Given the description of an element on the screen output the (x, y) to click on. 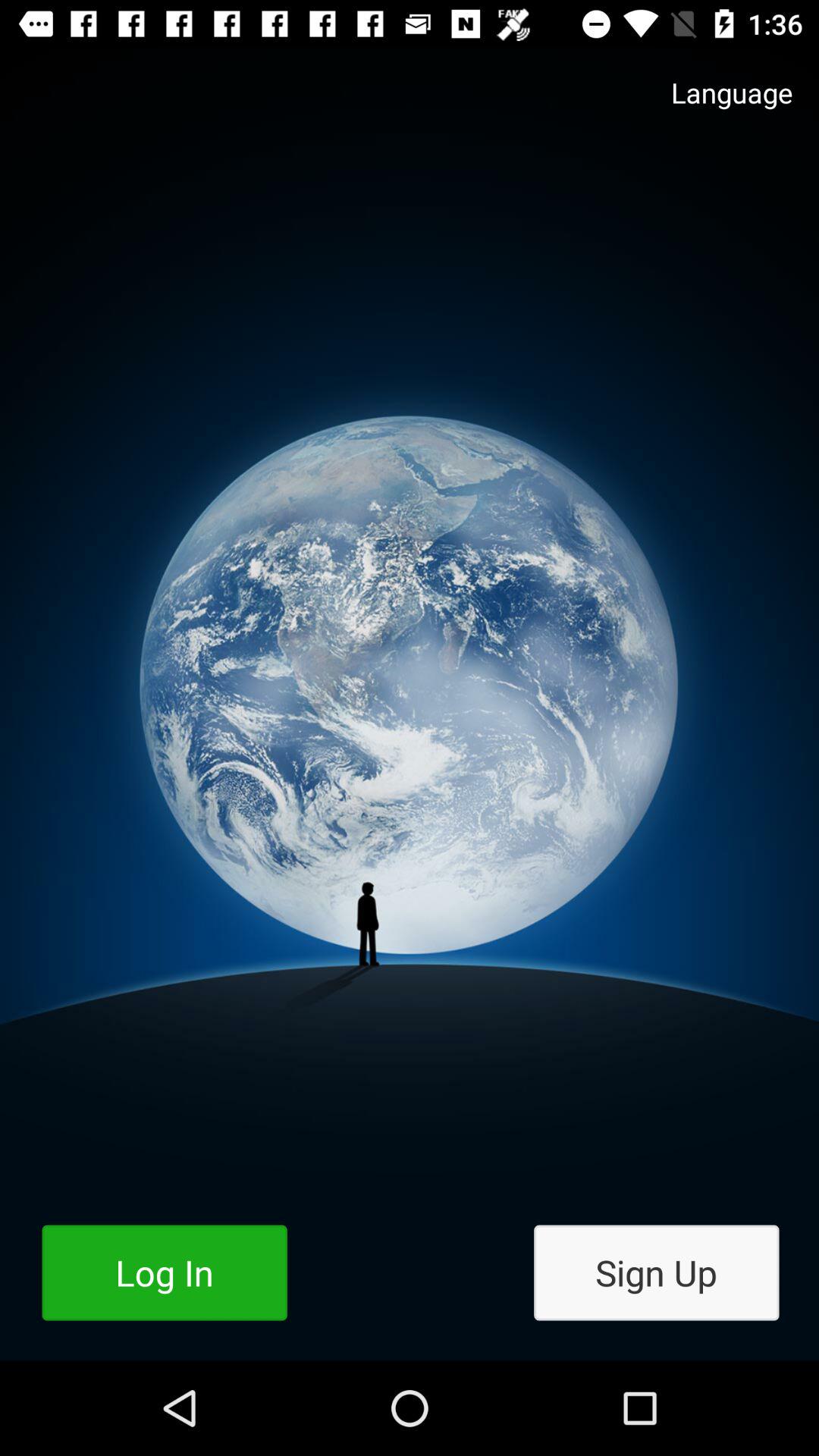
launch language icon (716, 107)
